Given the description of an element on the screen output the (x, y) to click on. 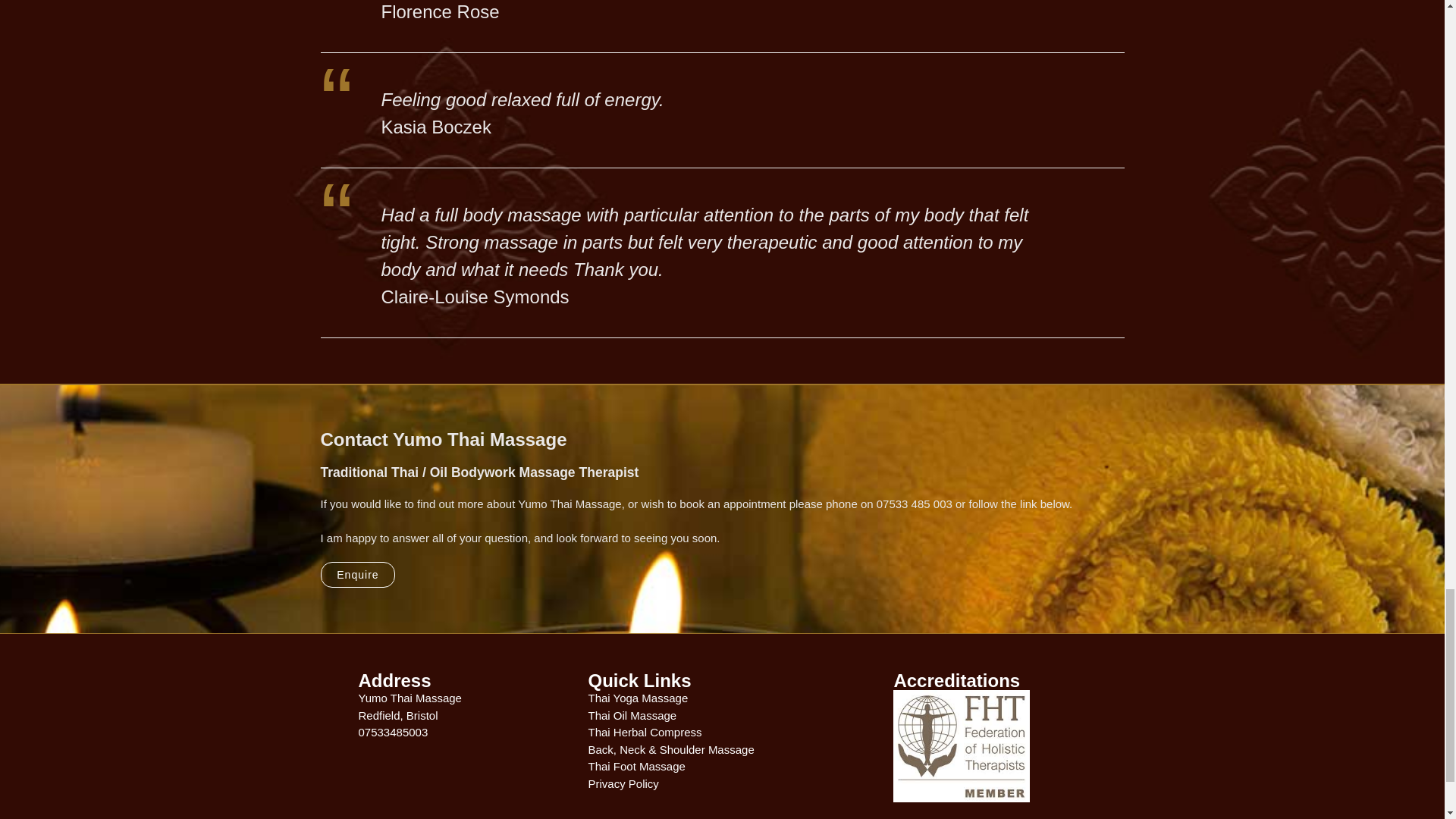
Thai Oil Massage (632, 715)
Thai Herbal Compress (644, 731)
Thai Yoga Massage (637, 697)
Thai Foot Massage (636, 766)
Privacy Policy (623, 783)
Enquire (357, 574)
